Given the description of an element on the screen output the (x, y) to click on. 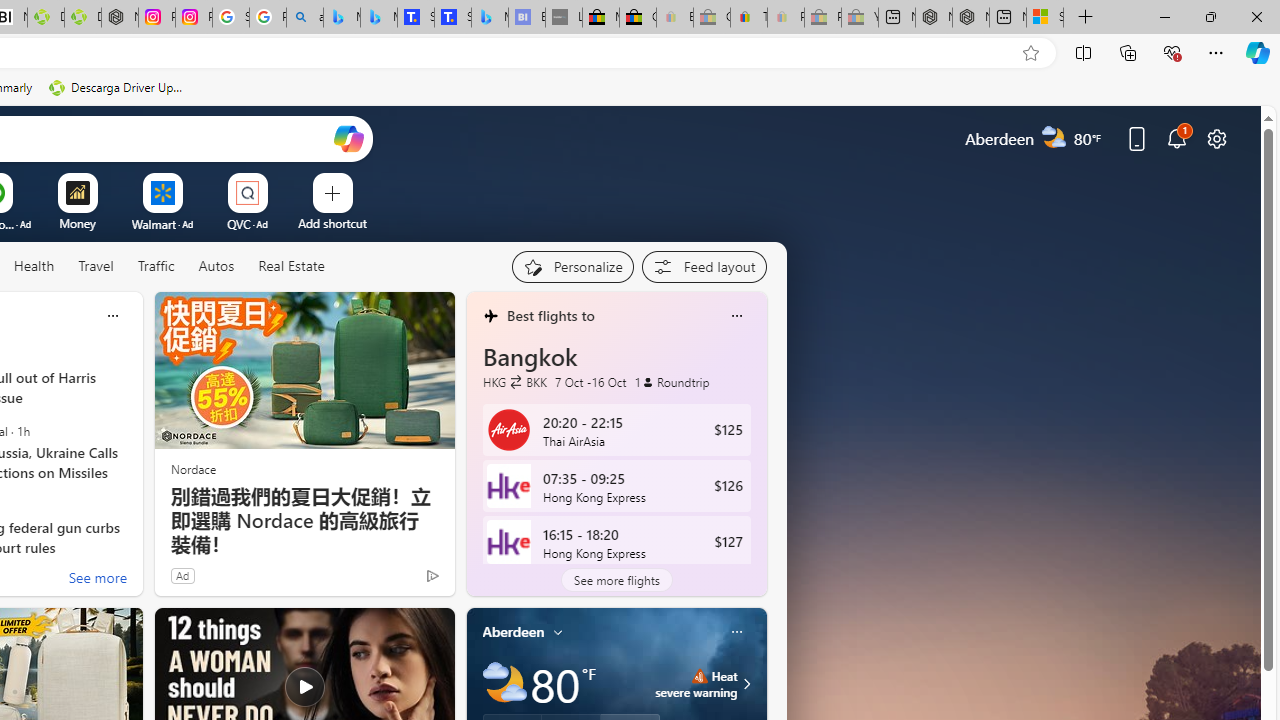
Nordace - Nordace Edin Collection (120, 17)
Feed settings (703, 266)
Partly cloudy (504, 683)
You're following The Weather Channel (390, 579)
Shangri-La Bangkok, Hotel reviews and Room rates (453, 17)
Safety in Our Products - Google Safety Center (230, 17)
